Given the description of an element on the screen output the (x, y) to click on. 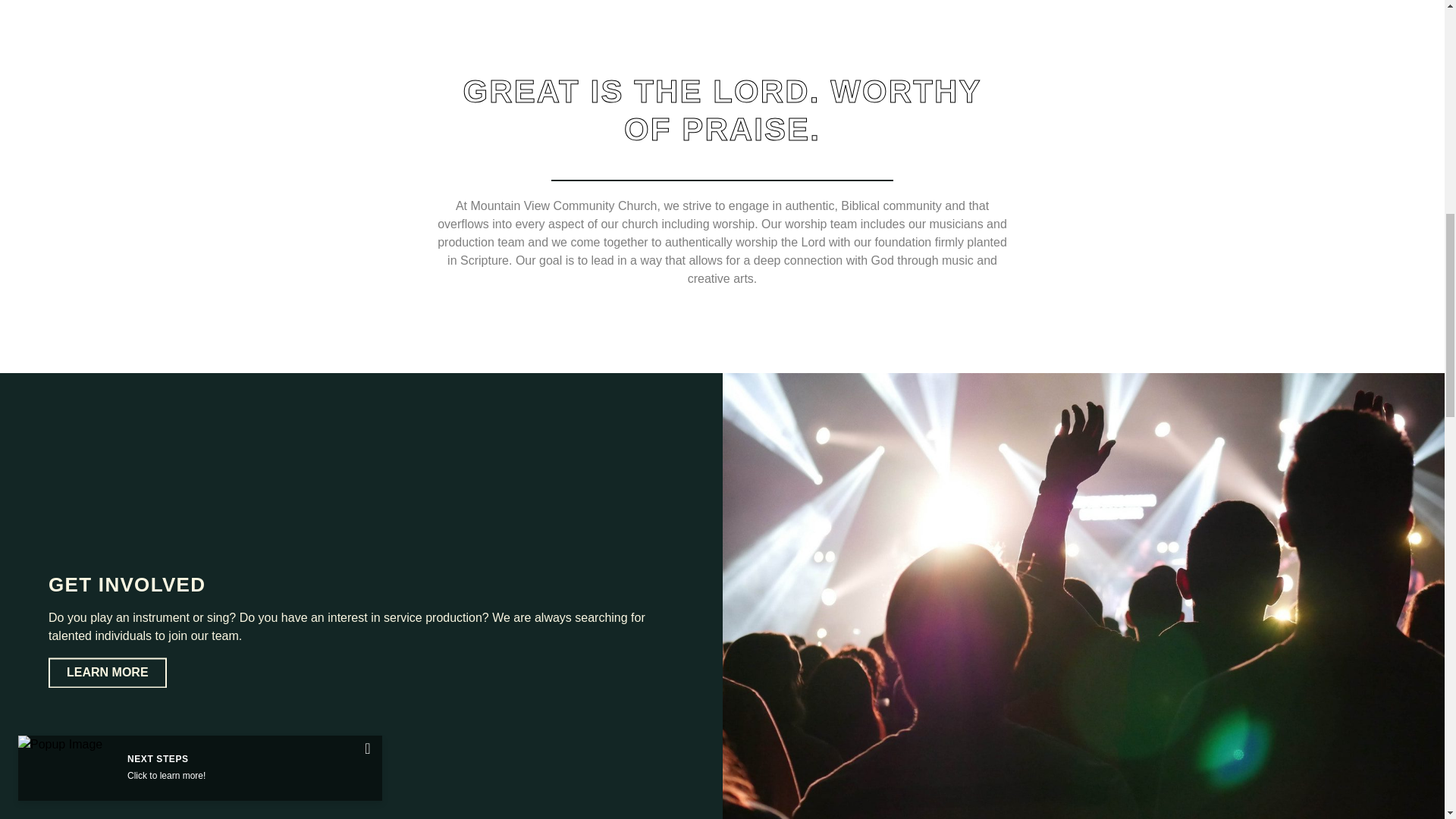
LEARN MORE (107, 672)
